Given the description of an element on the screen output the (x, y) to click on. 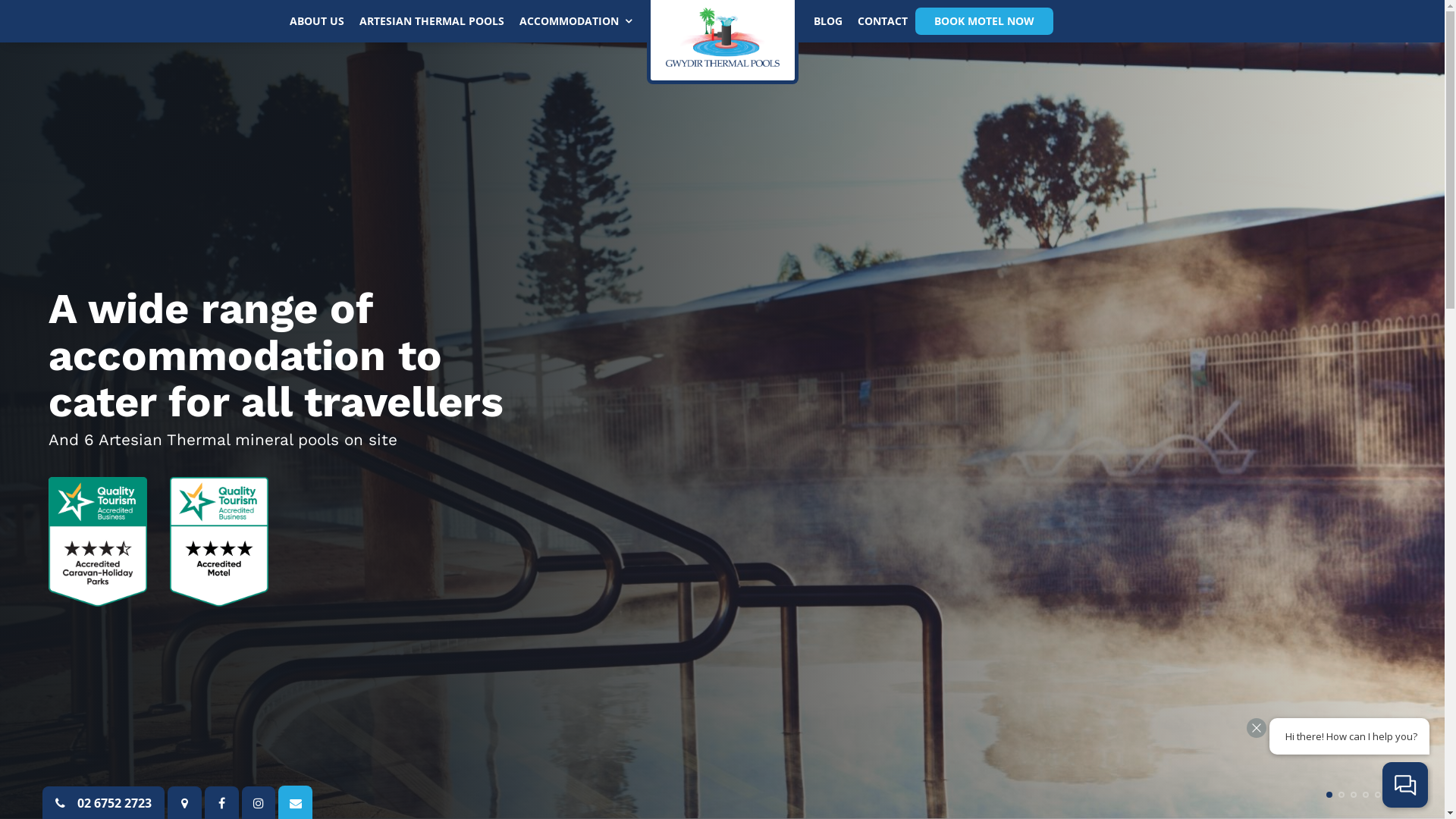
ACCOMMODATION Element type: text (574, 21)
CONTACT Element type: text (881, 21)
ABOUT US Element type: text (316, 21)
BOOK MOTEL NOW Element type: text (983, 20)
BLOG Element type: text (827, 21)
greeting Element type: hover (1349, 736)
ARTESIAN THERMAL POOLS Element type: text (431, 21)
